Given the description of an element on the screen output the (x, y) to click on. 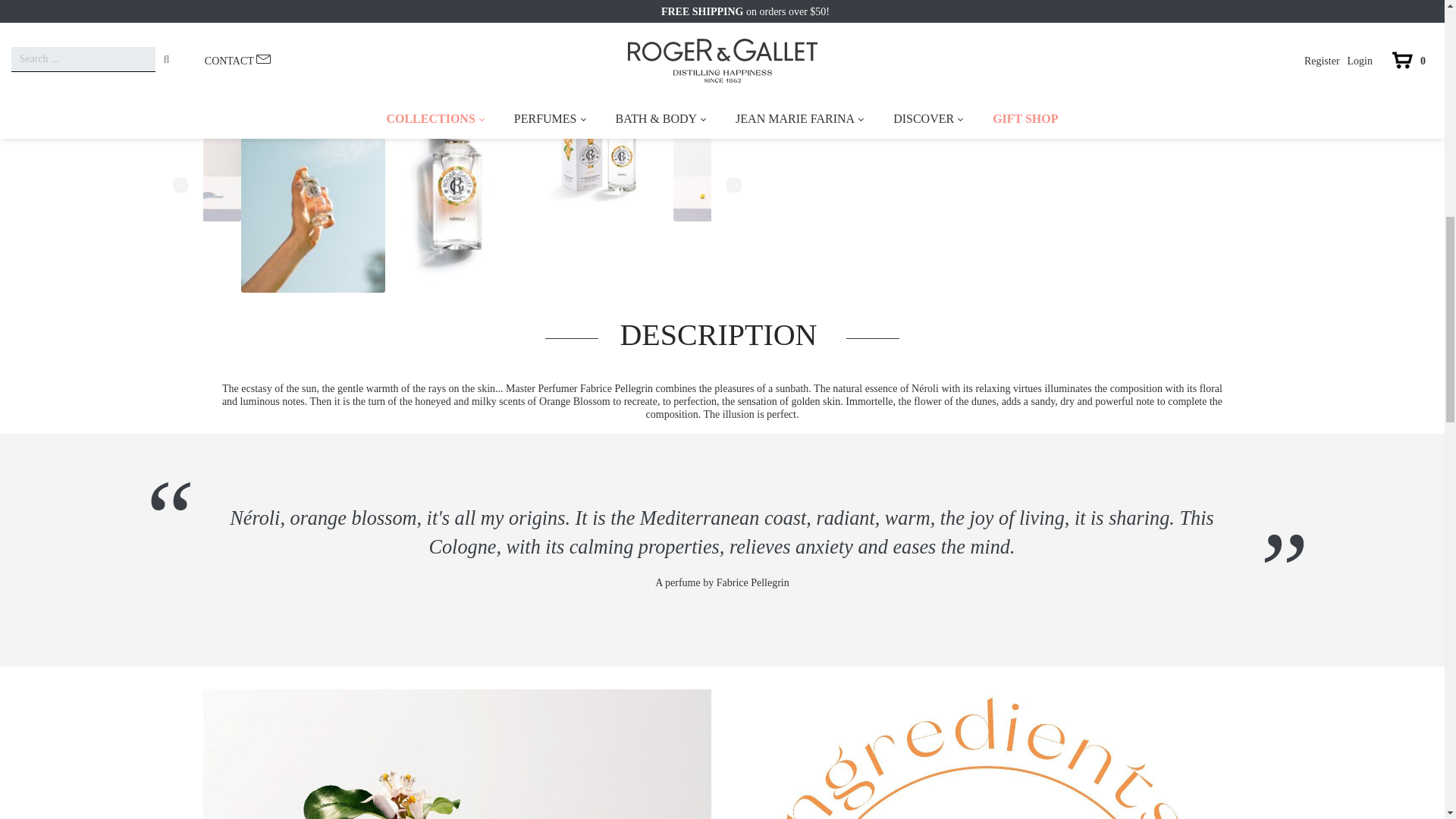
Add to Cart (798, 18)
